Given the description of an element on the screen output the (x, y) to click on. 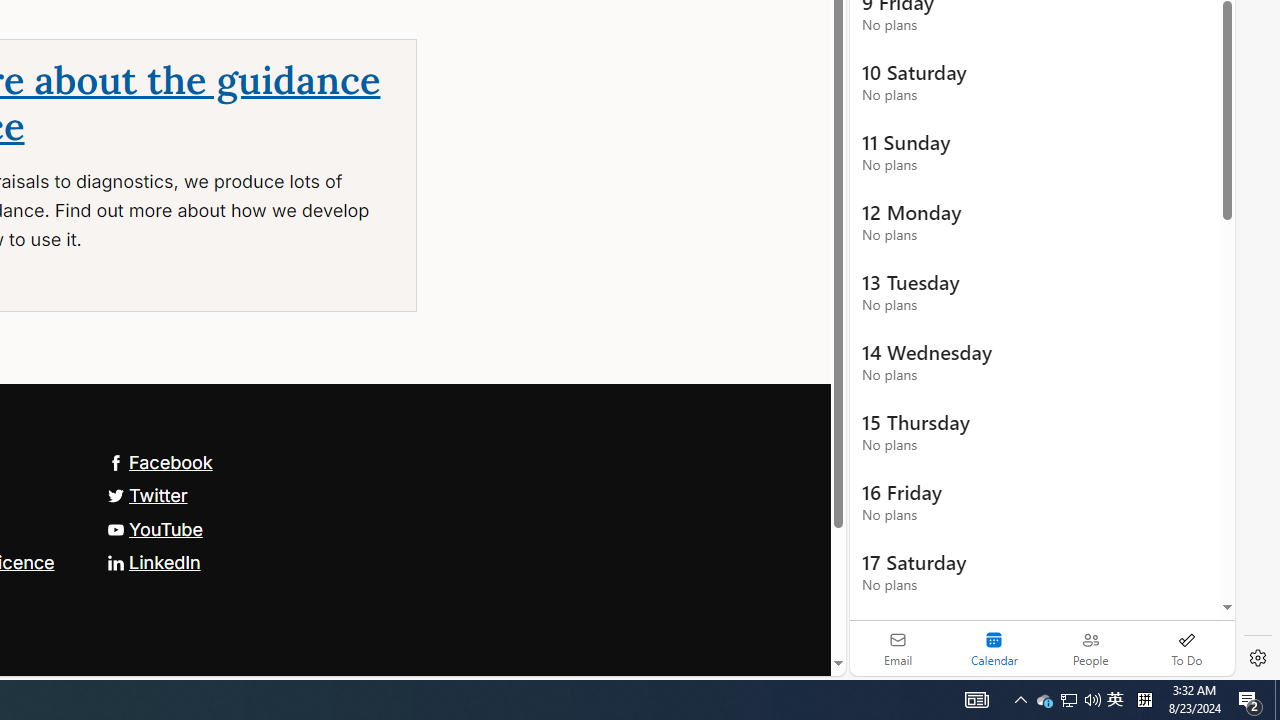
Facebook (159, 461)
